Given the description of an element on the screen output the (x, y) to click on. 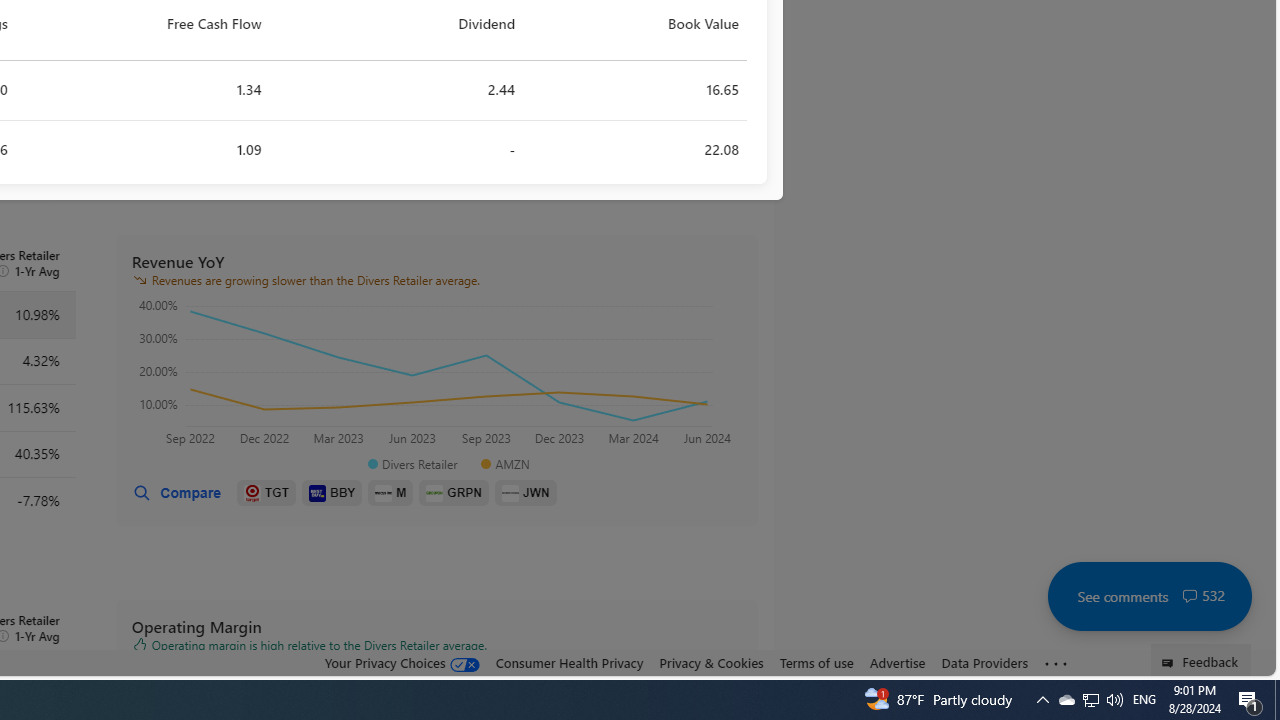
Terms of use (816, 663)
Feedback (1200, 659)
JWN (525, 493)
Data Providers (983, 662)
Consumer Health Privacy (569, 662)
Privacy & Cookies (711, 662)
Terms of use (816, 662)
Class: cwt-icon-vector (1190, 596)
BBY (332, 493)
Consumer Health Privacy (569, 663)
Class: oneFooter_seeMore-DS-EntryPoint1-1 (1055, 663)
Your Privacy Choices (401, 663)
